Given the description of an element on the screen output the (x, y) to click on. 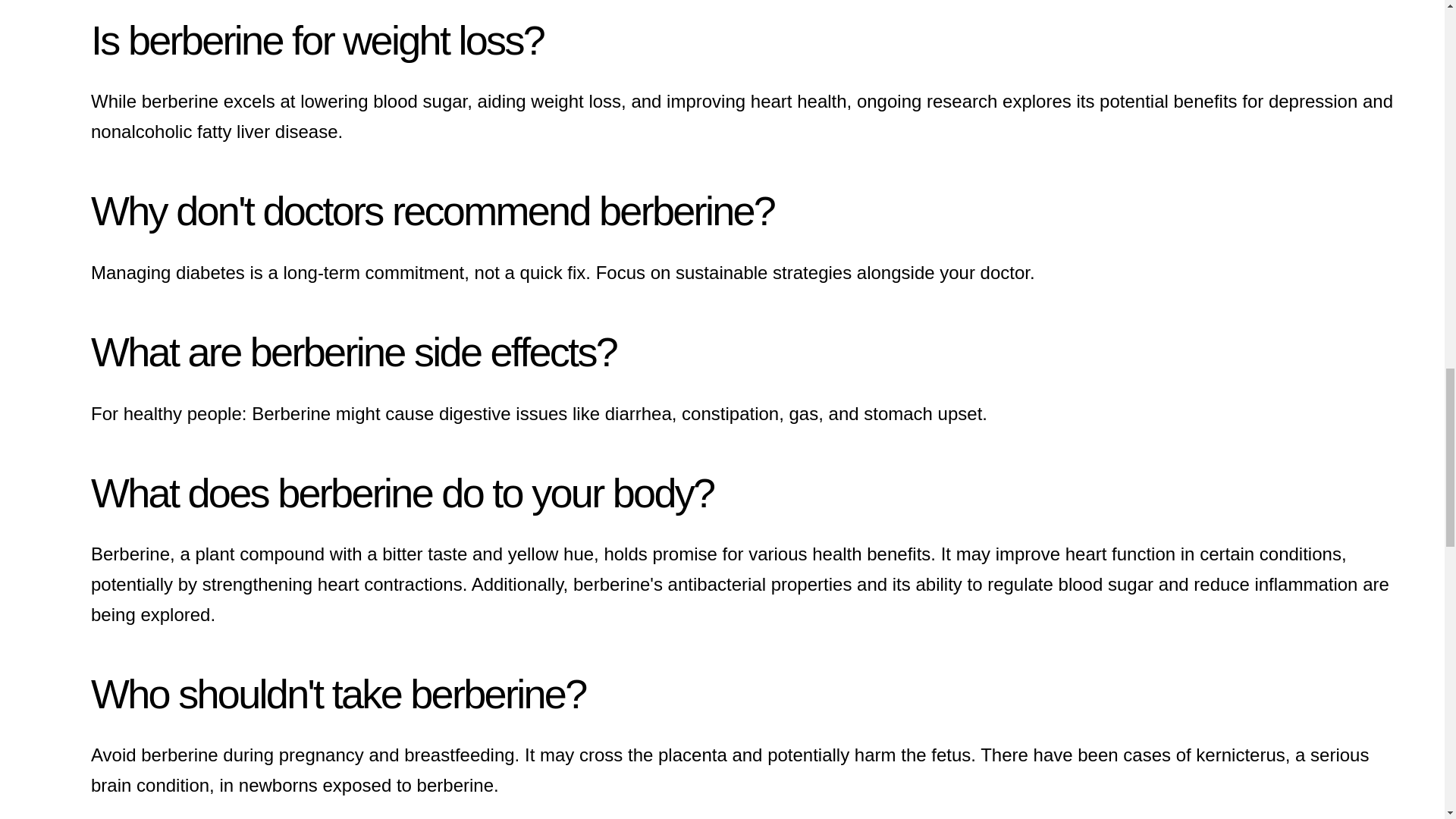
Why don't doctors recommend berberine? (432, 210)
Is berberine for weight loss? (316, 40)
Who shouldn't take berberine? (337, 693)
What are berberine side effects? (352, 351)
What does berberine do to your body? (401, 492)
